Given the description of an element on the screen output the (x, y) to click on. 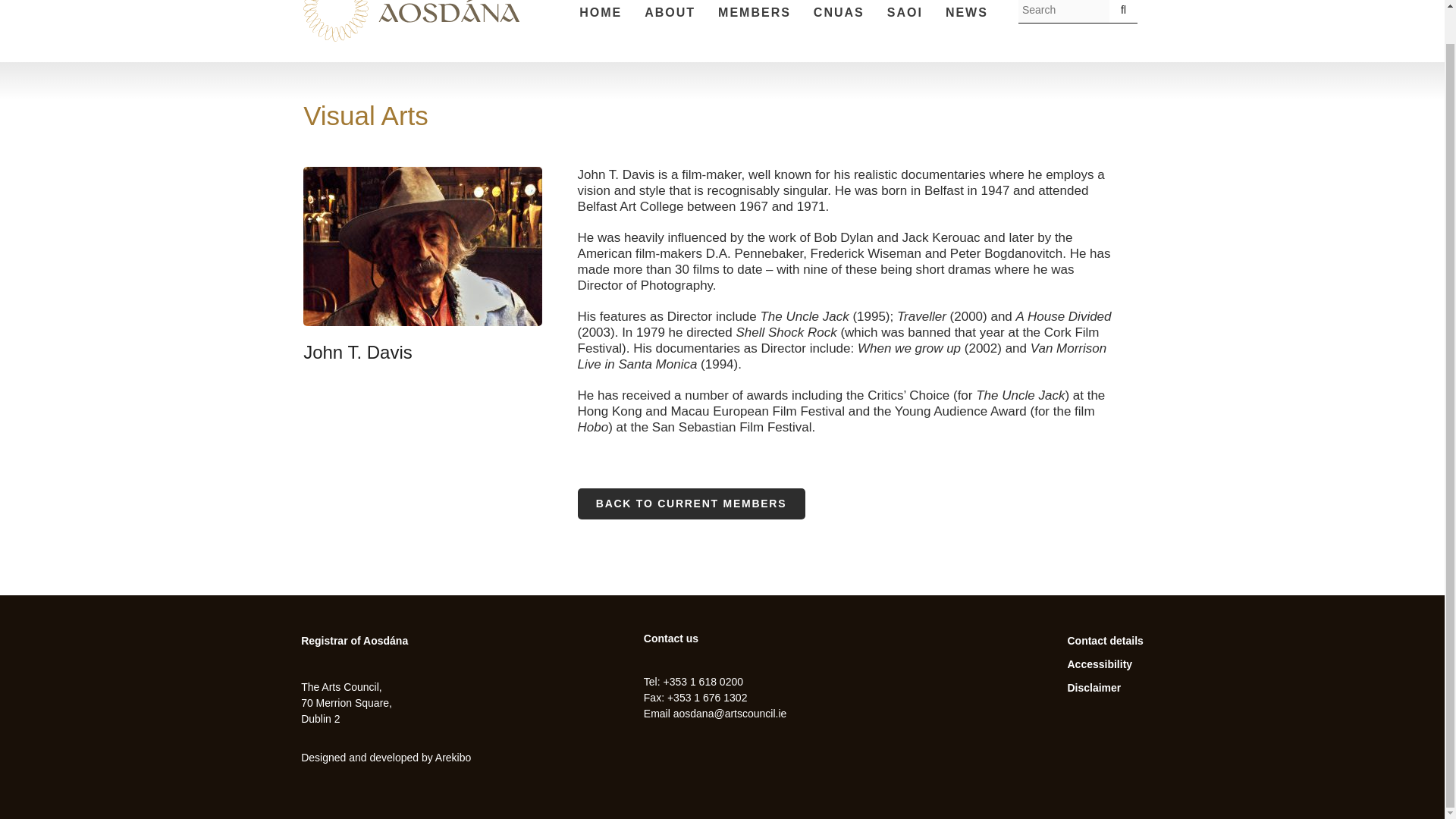
CNUAS (839, 14)
HOME (600, 14)
MEMBERS (753, 14)
Contact details (1104, 640)
Accessibility (1099, 664)
Disclaimer (1094, 687)
BACK TO CURRENT MEMBERS (691, 503)
SAOI (904, 14)
NEWS (966, 14)
ABOUT (670, 14)
